Given the description of an element on the screen output the (x, y) to click on. 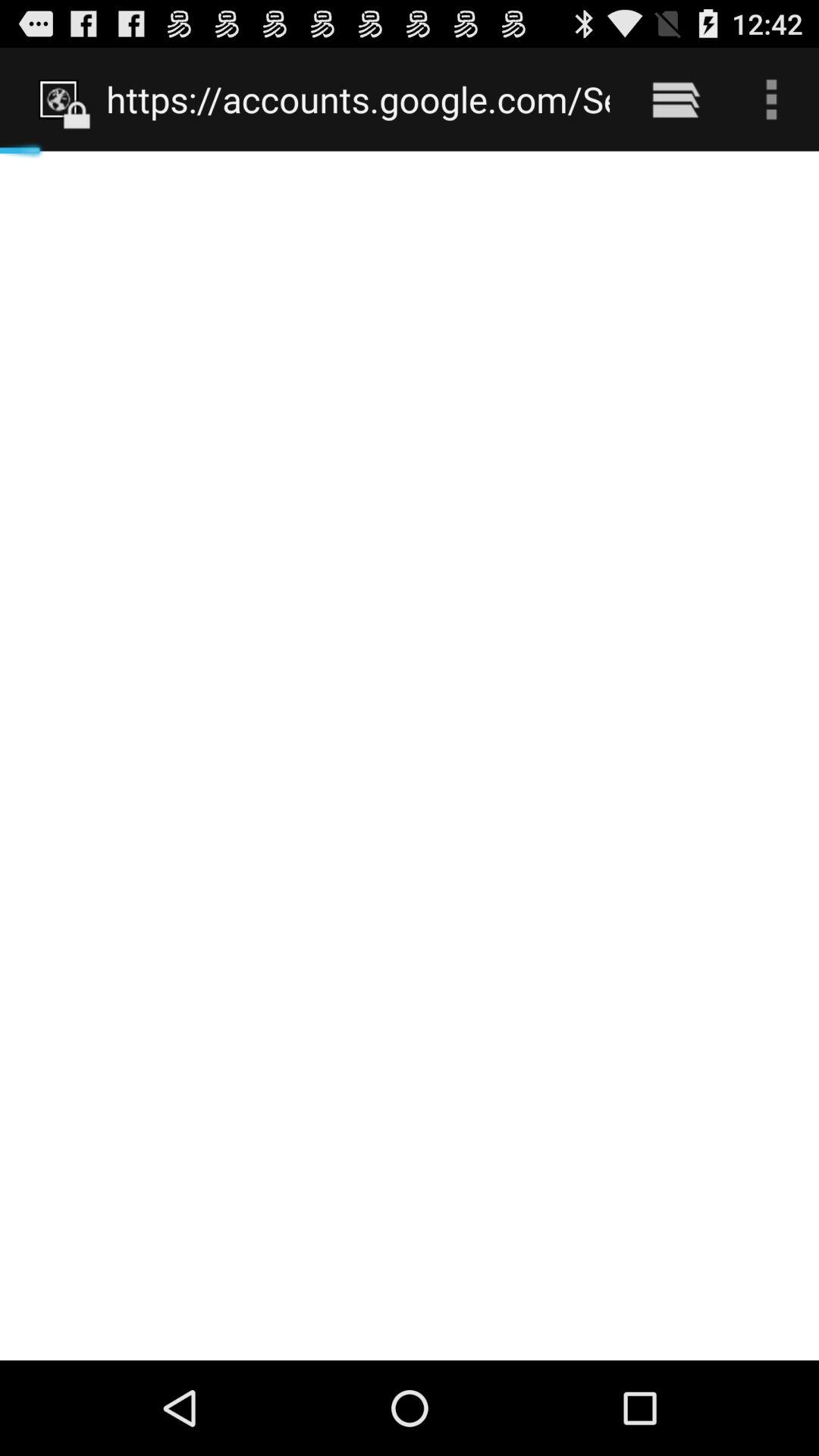
open https accounts google icon (357, 99)
